Given the description of an element on the screen output the (x, y) to click on. 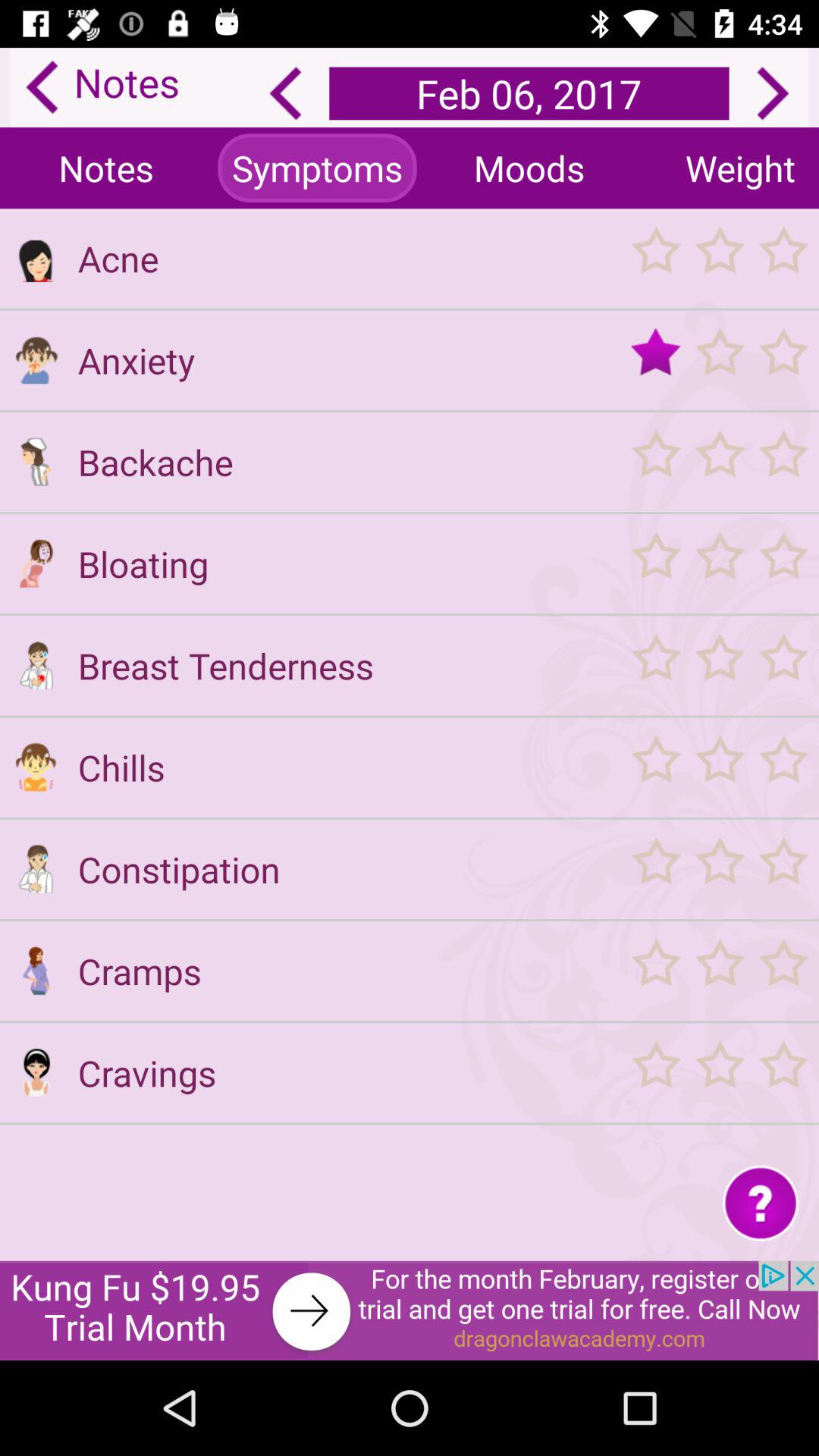
like button (719, 359)
